Given the description of an element on the screen output the (x, y) to click on. 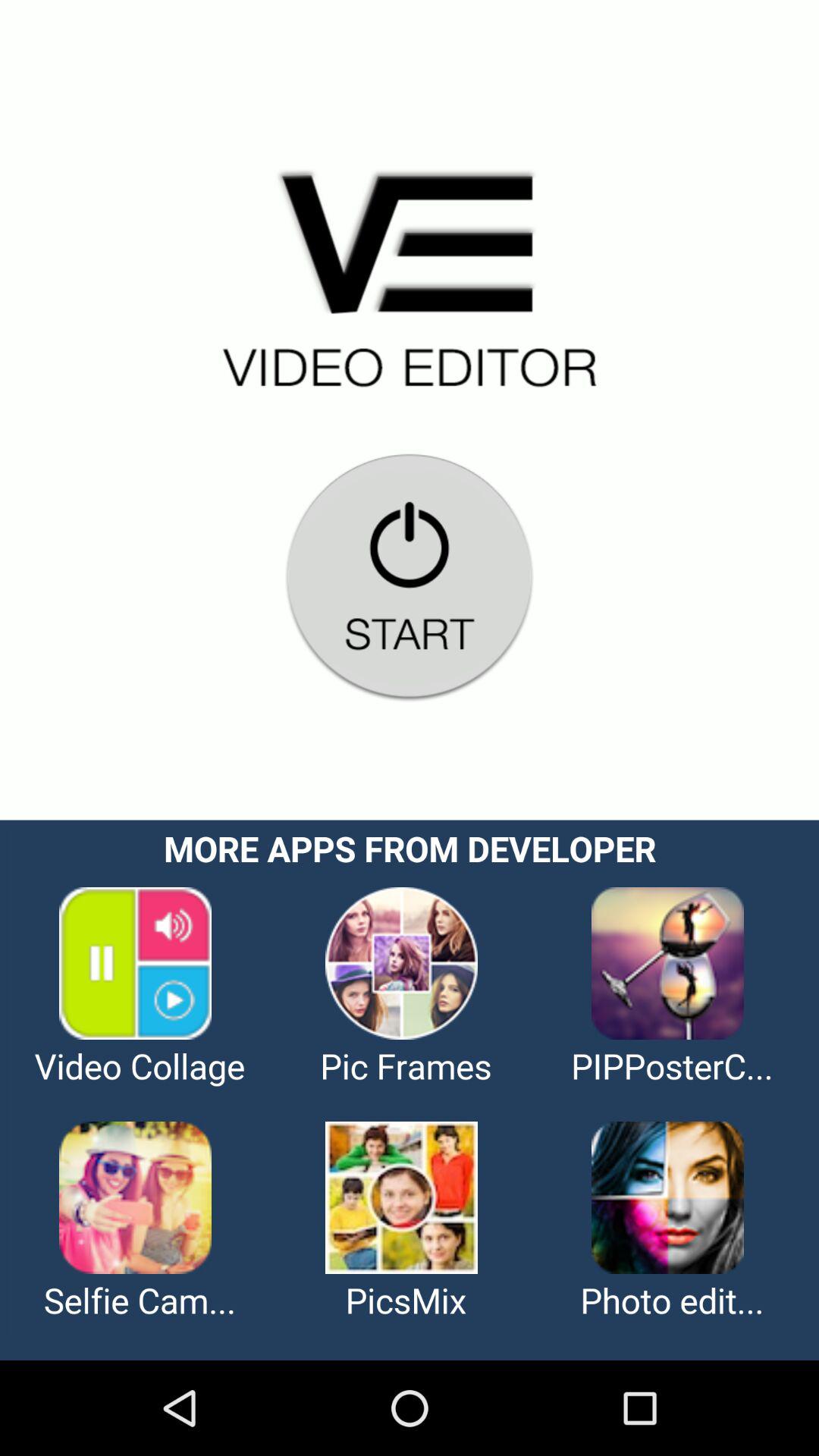
open more apps from developer (409, 1090)
